Given the description of an element on the screen output the (x, y) to click on. 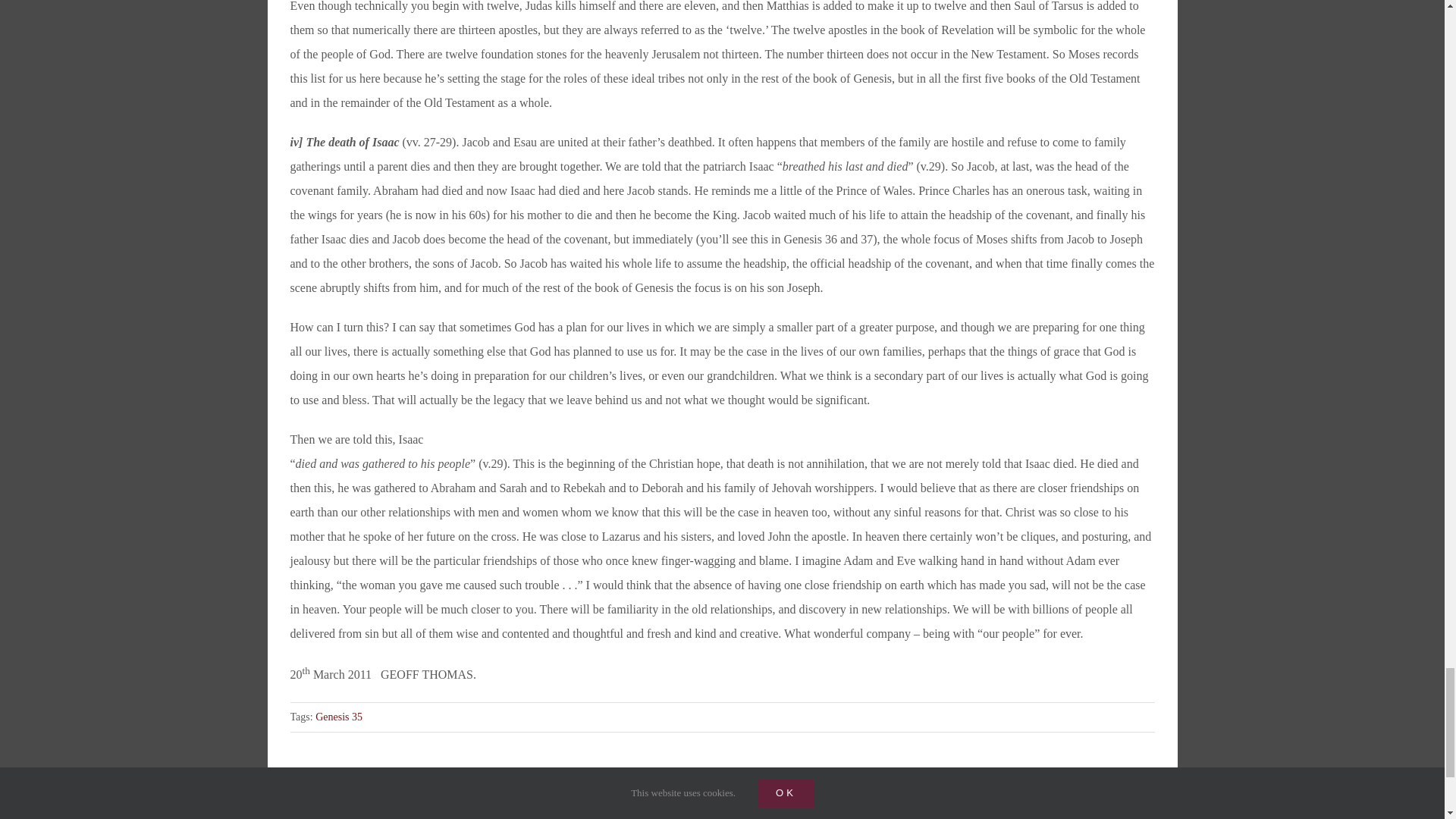
Genesis 35 (338, 716)
Twitter (1062, 808)
LinkedIn (1090, 808)
Email (1144, 808)
Facebook (1035, 808)
WhatsApp (1117, 808)
